Given the description of an element on the screen output the (x, y) to click on. 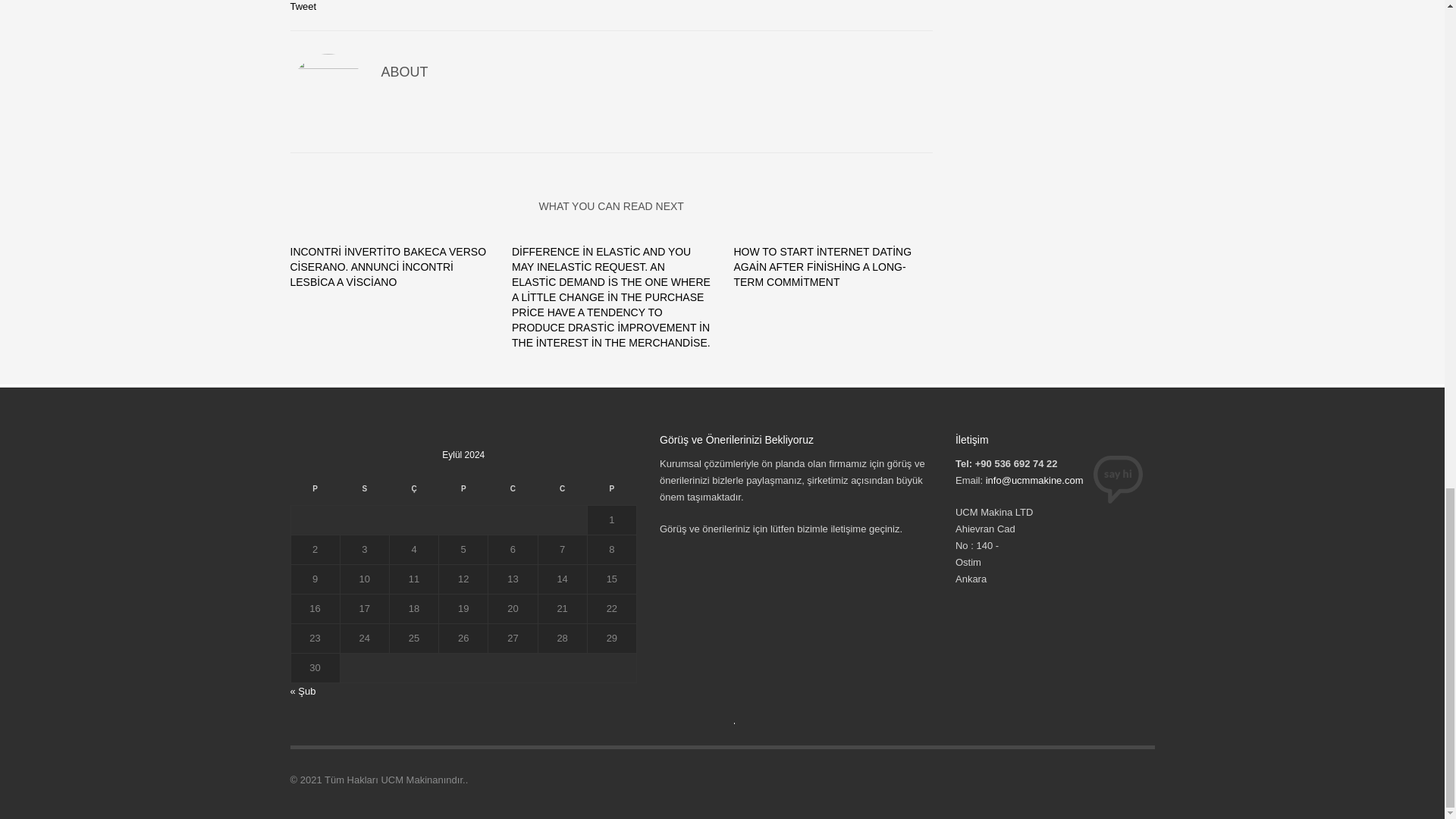
Tweet (302, 6)
Pazar (611, 493)
Pazartesi (314, 493)
Cuma (512, 493)
Cumartesi (561, 493)
